Given the description of an element on the screen output the (x, y) to click on. 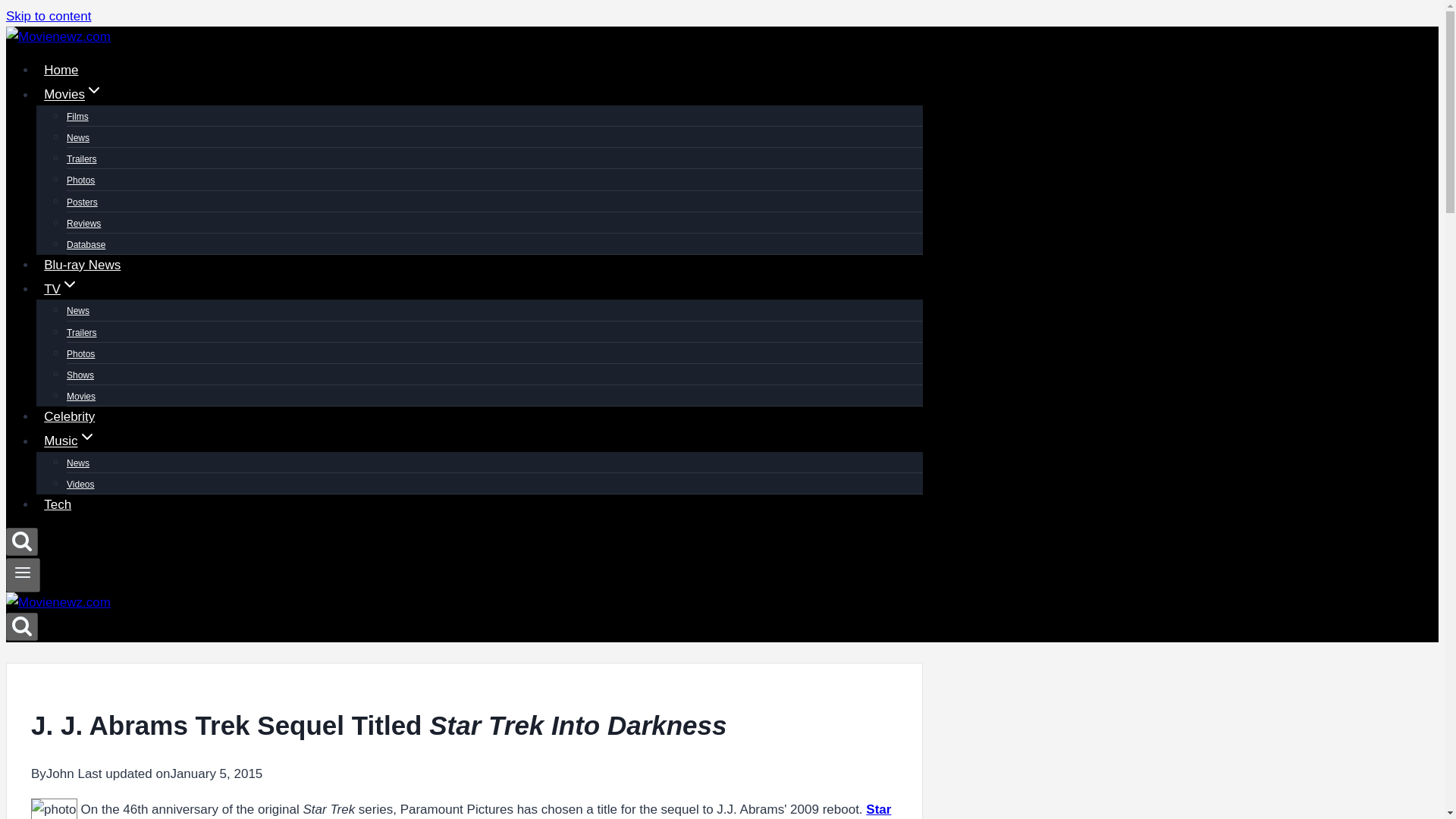
Films (77, 116)
MusicExpand (69, 440)
Toggle Menu (22, 574)
photo (53, 808)
Expand (87, 436)
Posters (81, 202)
Database (85, 244)
MoviesExpand (73, 93)
Reviews (83, 223)
Blu-ray News (82, 265)
Trailers (81, 158)
TVExpand (60, 288)
News (77, 137)
Expand (69, 284)
Search (21, 626)
